Given the description of an element on the screen output the (x, y) to click on. 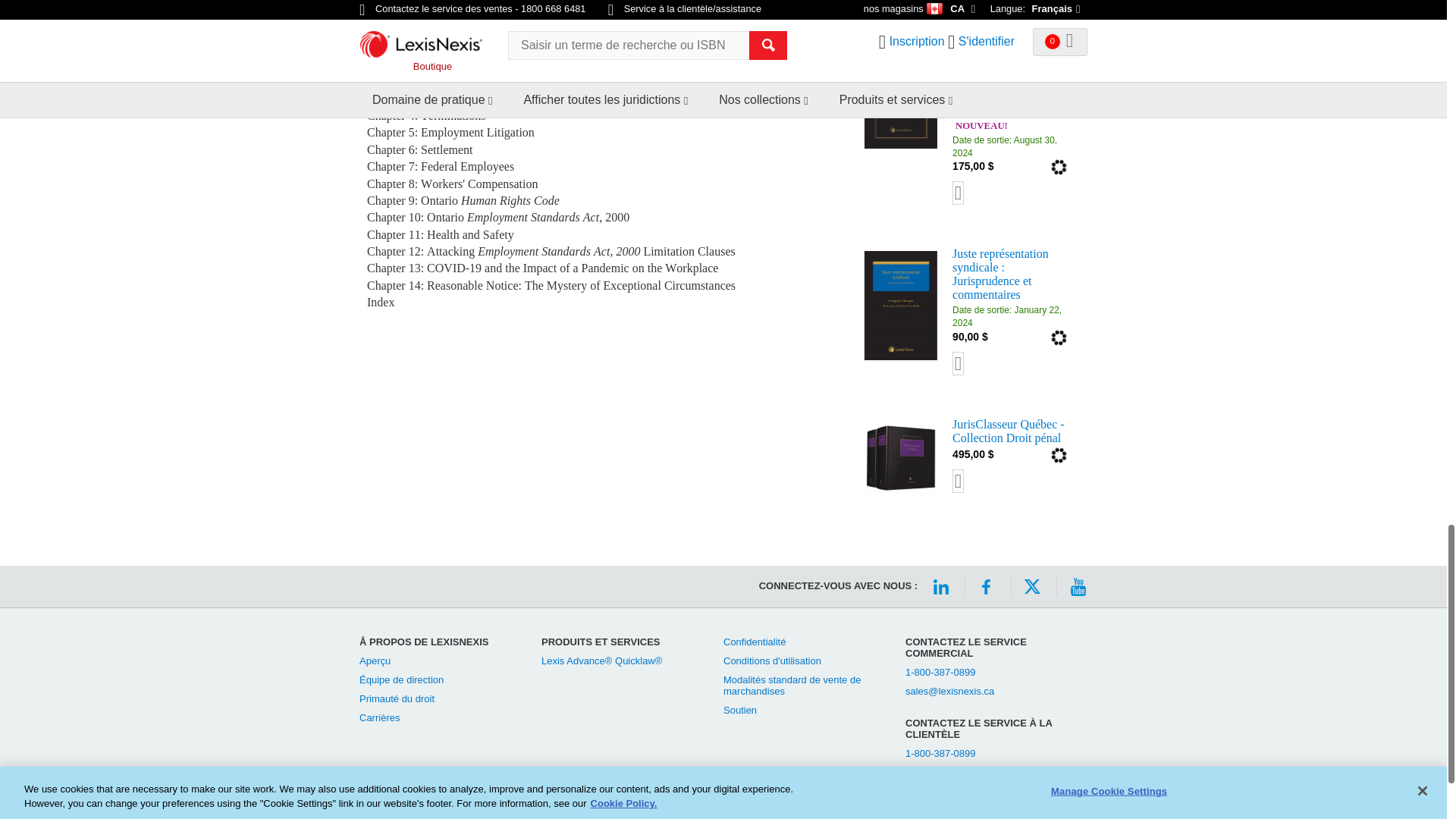
Find us on LinkedIn (940, 586)
